Given the description of an element on the screen output the (x, y) to click on. 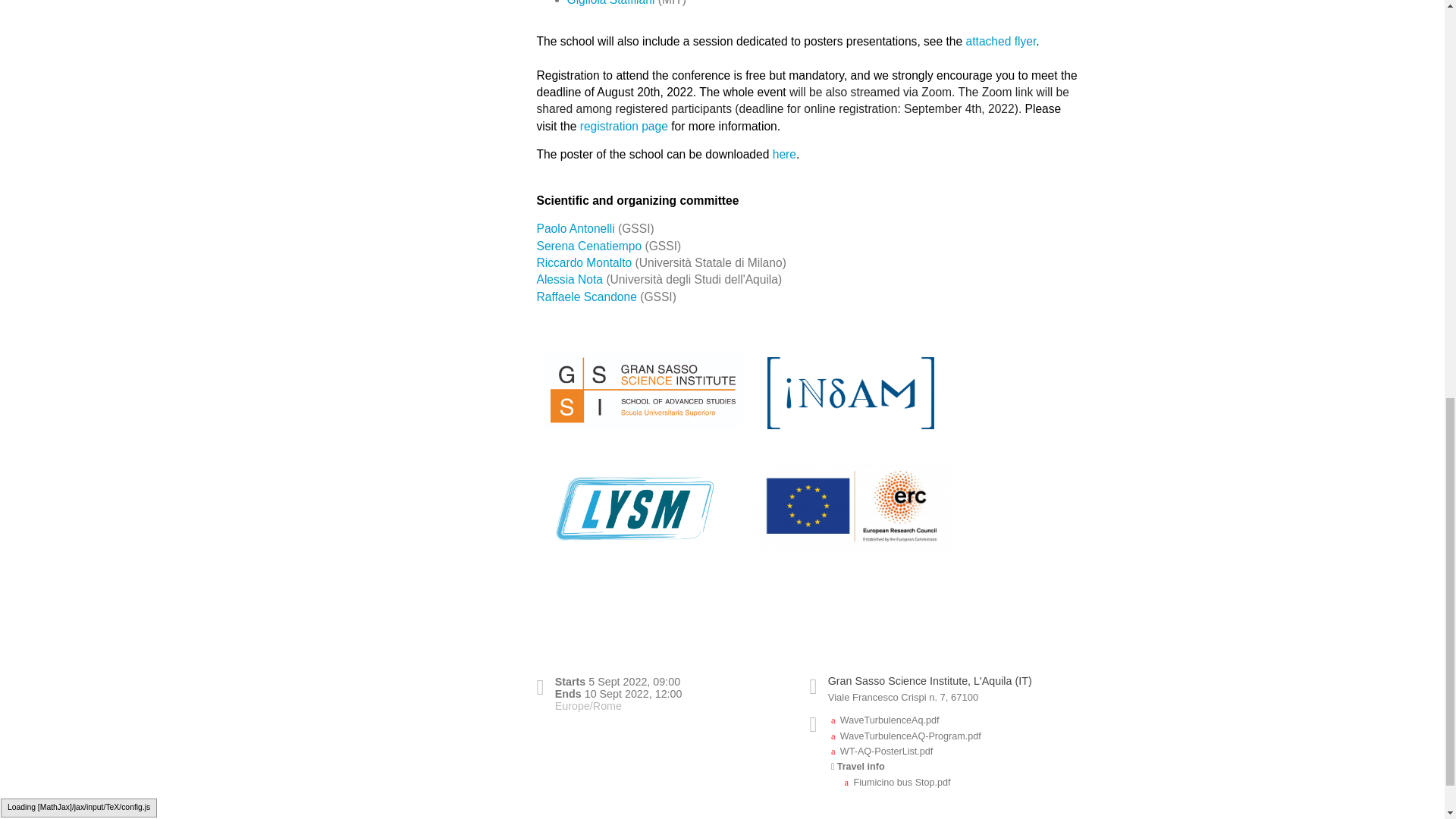
WaveTurbulenceAQ-Program.pdf (906, 736)
WaveTurbulenceAq.pdf (885, 719)
WT-AQ-PosterList.pdf (882, 751)
Fiumicino bus Stop.pdf (897, 782)
